Given the description of an element on the screen output the (x, y) to click on. 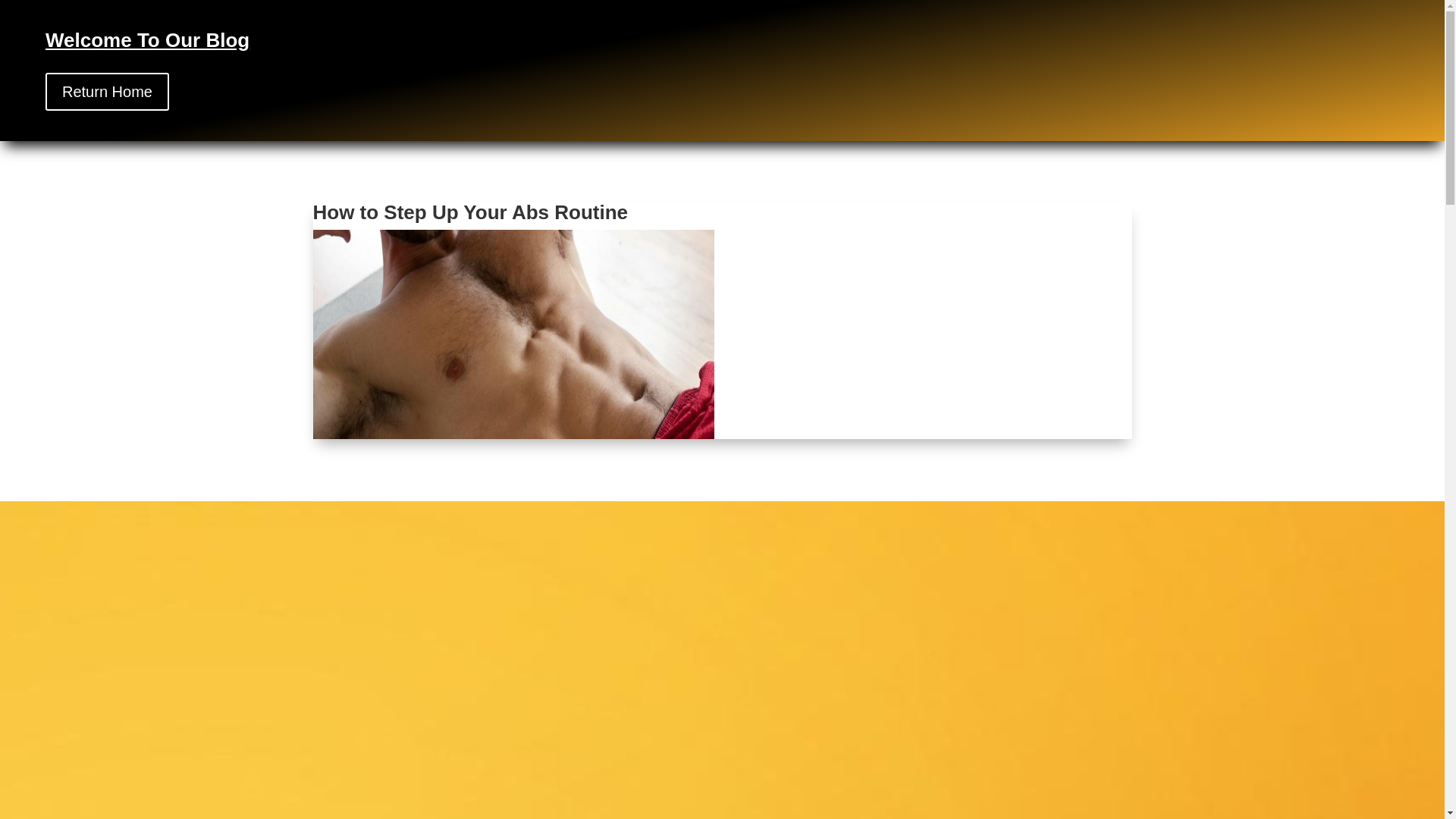
Return Home (106, 91)
